Given the description of an element on the screen output the (x, y) to click on. 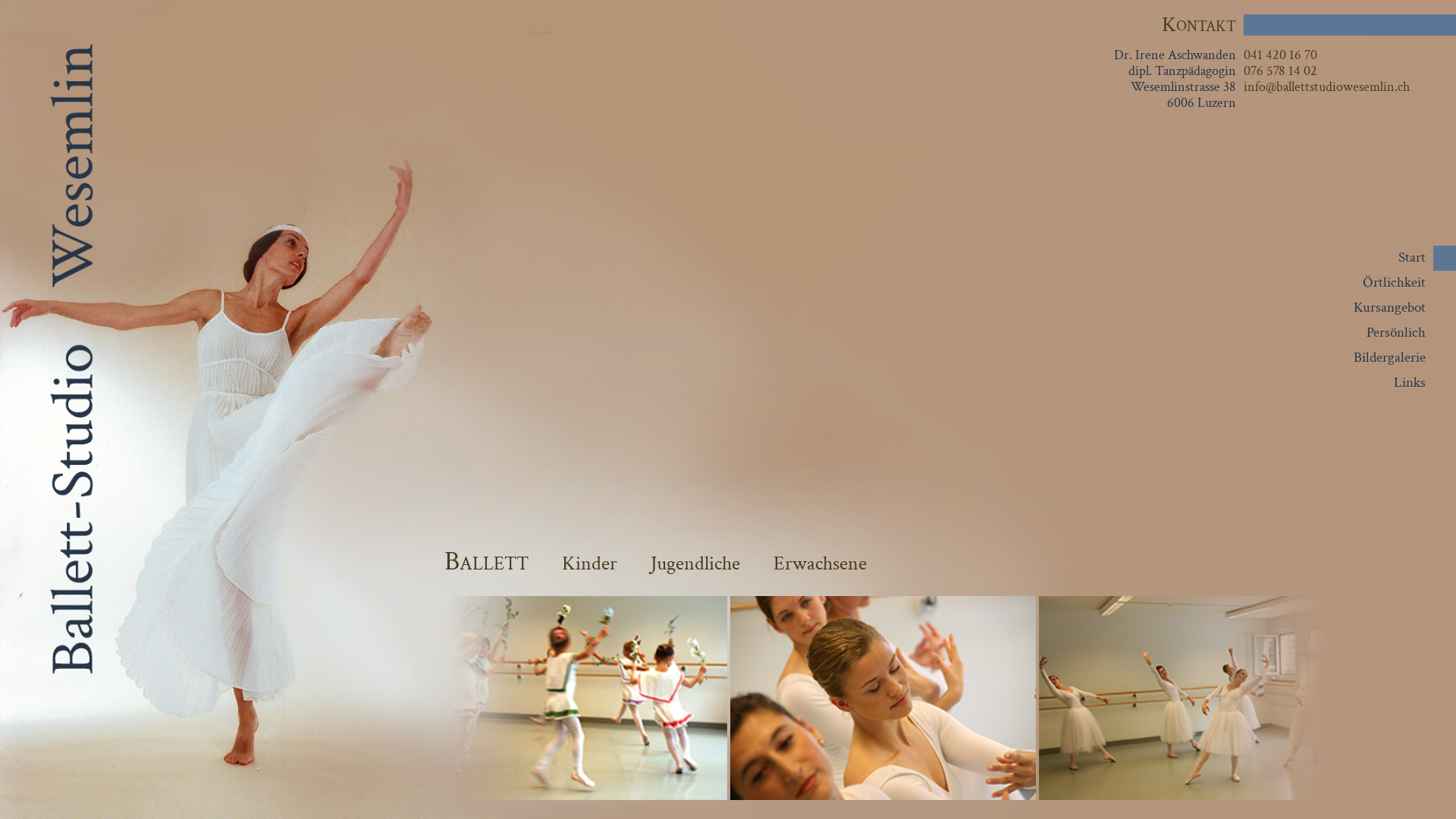
info@ballettstudiowesemlin.ch Element type: text (1326, 86)
Links Element type: text (1409, 382)
Start Element type: text (1411, 256)
Kursangebot Element type: text (1389, 307)
Bildergalerie Element type: text (1389, 357)
